Given the description of an element on the screen output the (x, y) to click on. 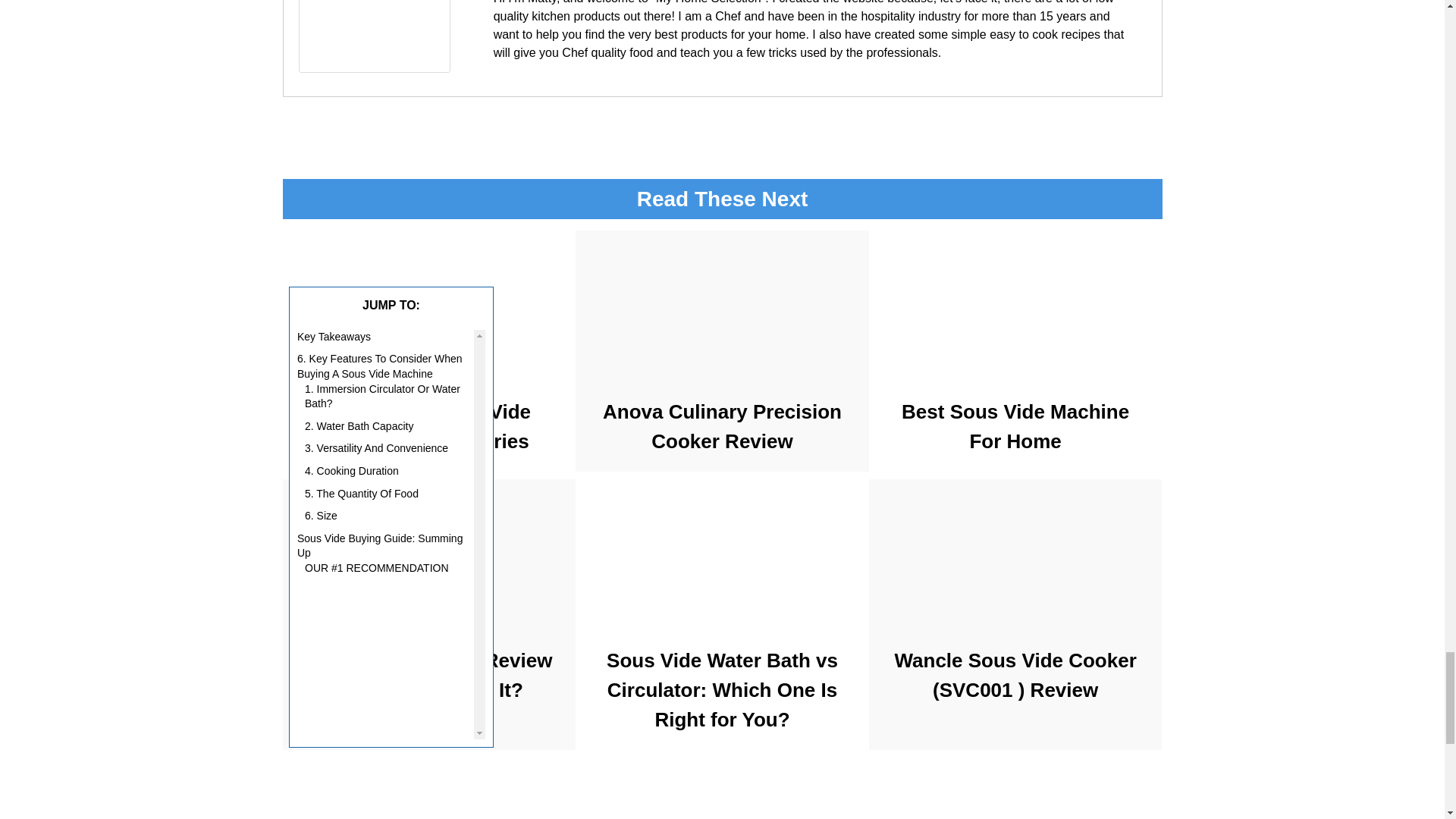
Chef and Restaurant Owner Matty Riedel (373, 68)
